Given the description of an element on the screen output the (x, y) to click on. 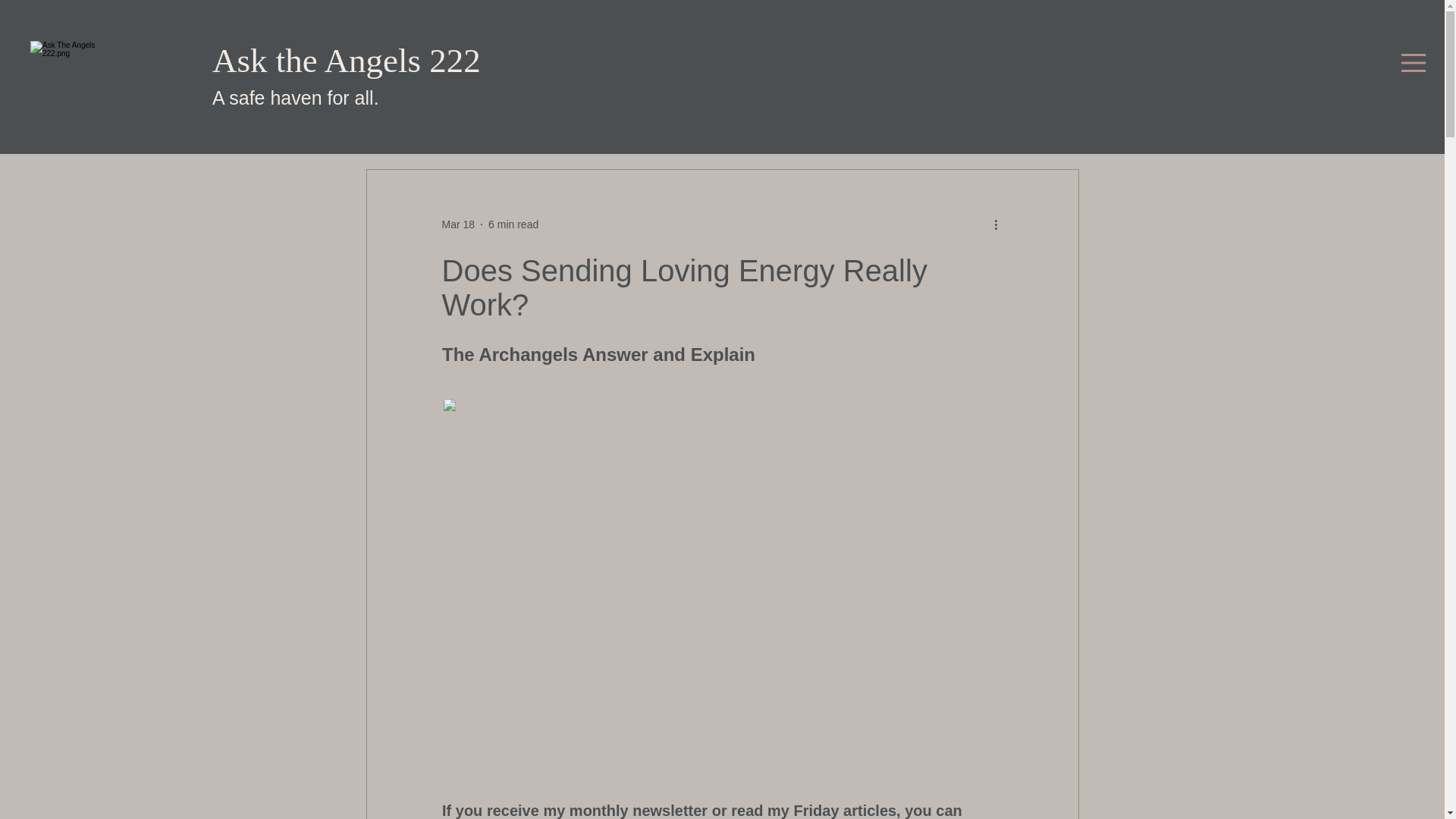
Ask the Angels 222 (346, 60)
A safe haven for all.  (298, 97)
6 min read (512, 224)
5.png (73, 83)
Mar 18 (457, 224)
